Given the description of an element on the screen output the (x, y) to click on. 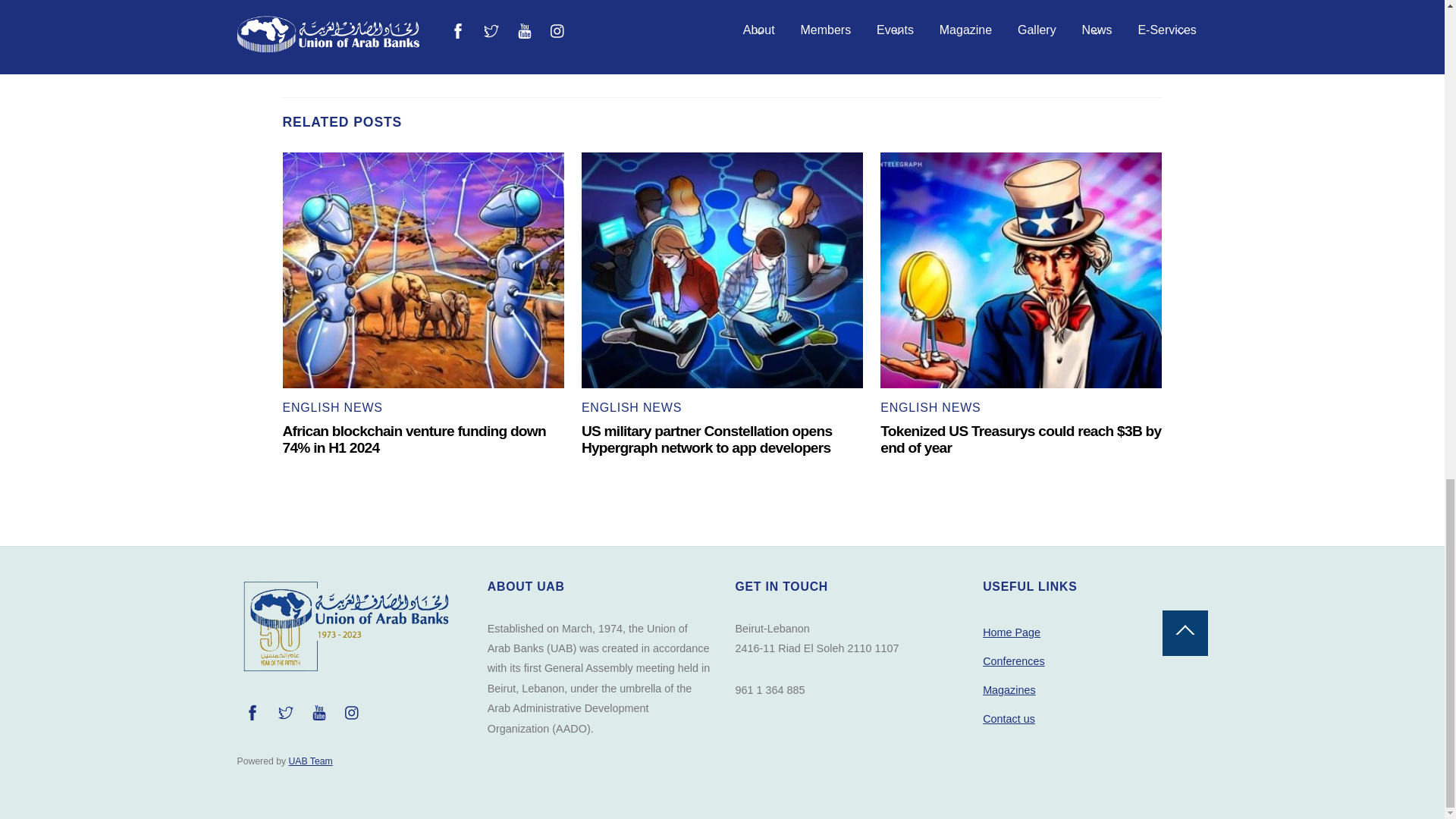
Union of Arab Banks (343, 672)
